Given the description of an element on the screen output the (x, y) to click on. 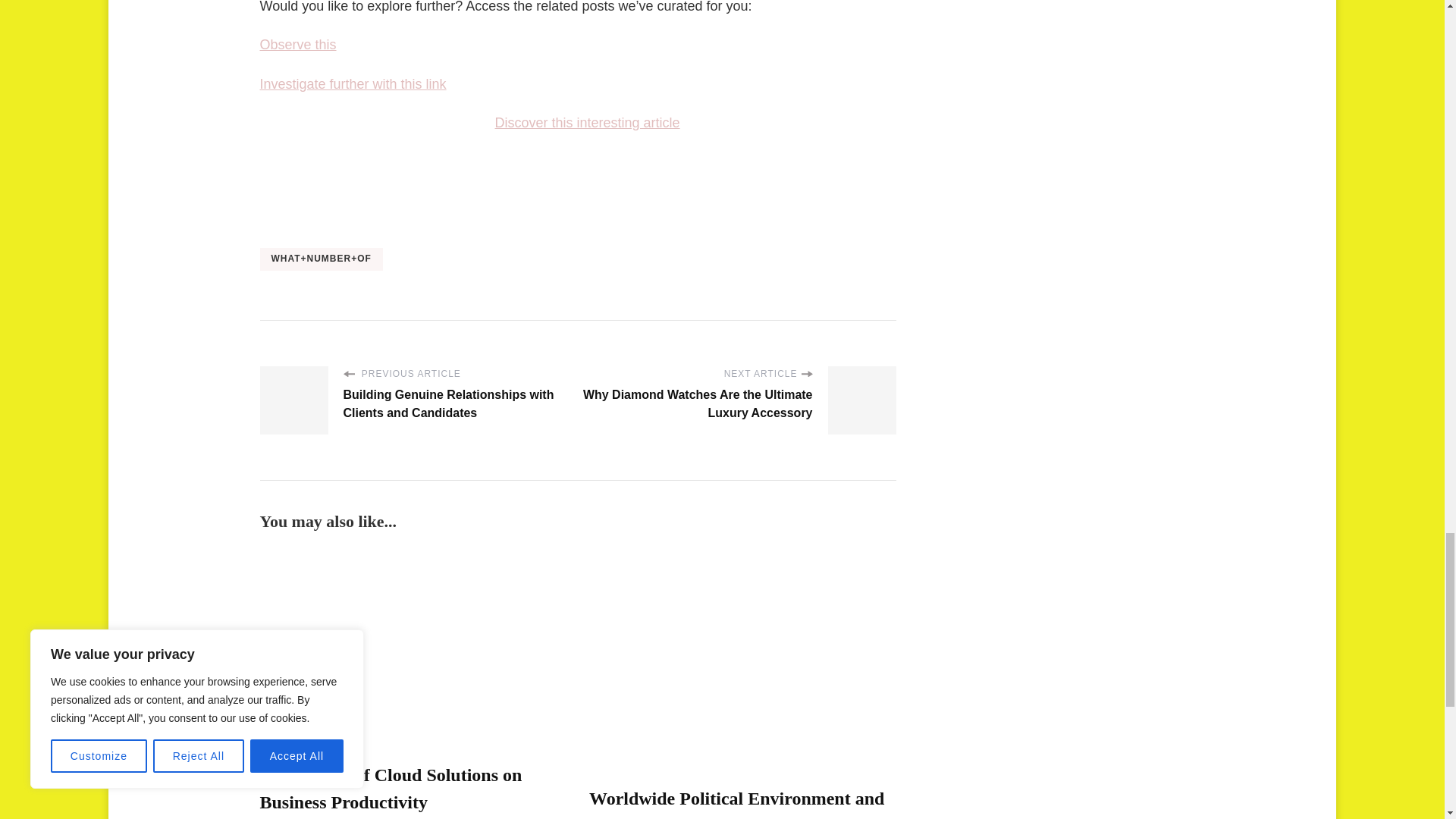
Observe this (297, 44)
Investigate further with this link (352, 83)
The Impact of Cloud Solutions on Business Productivity (390, 788)
Discover this interesting article (587, 122)
